Given the description of an element on the screen output the (x, y) to click on. 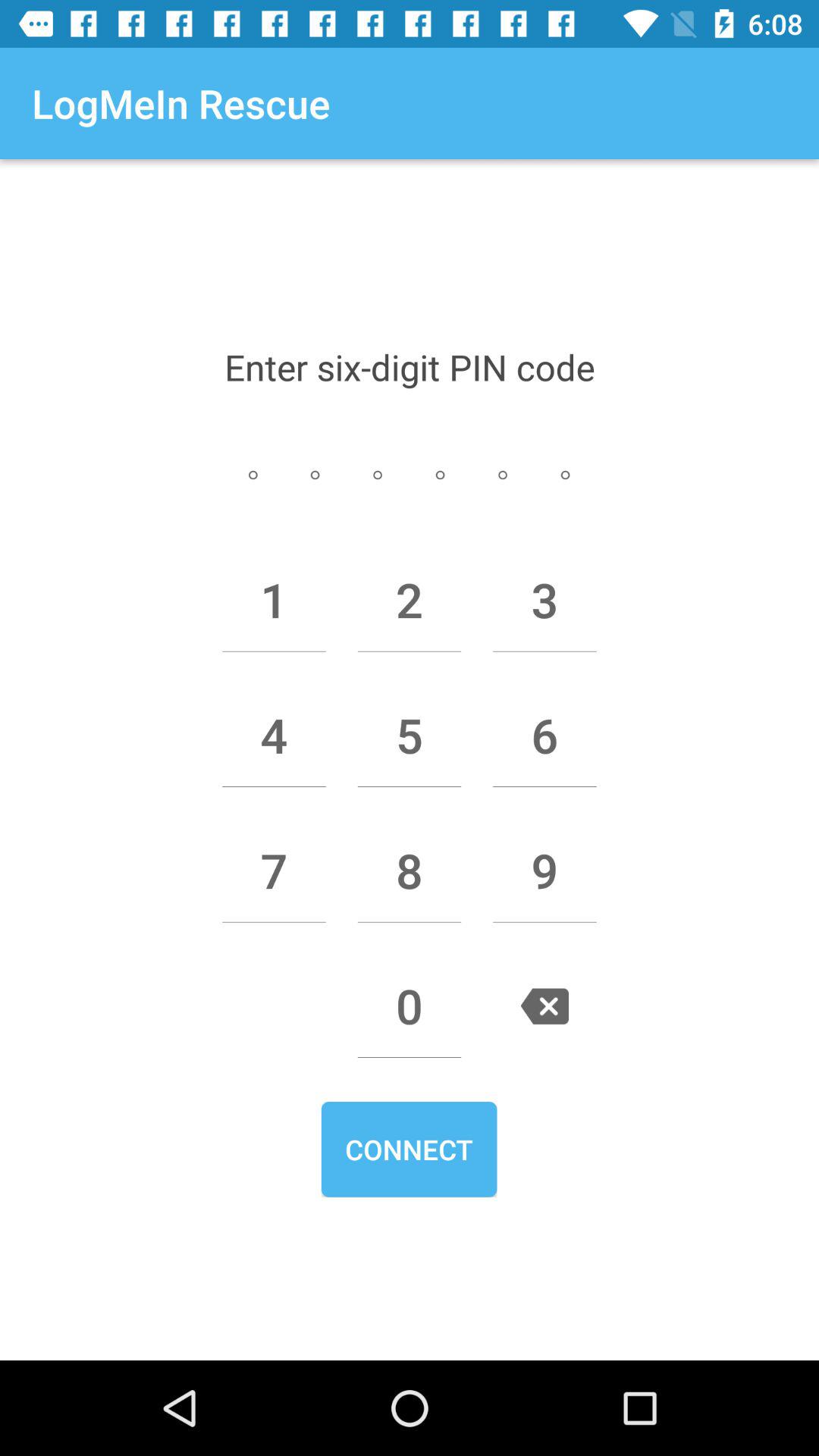
launch 8 (409, 870)
